Given the description of an element on the screen output the (x, y) to click on. 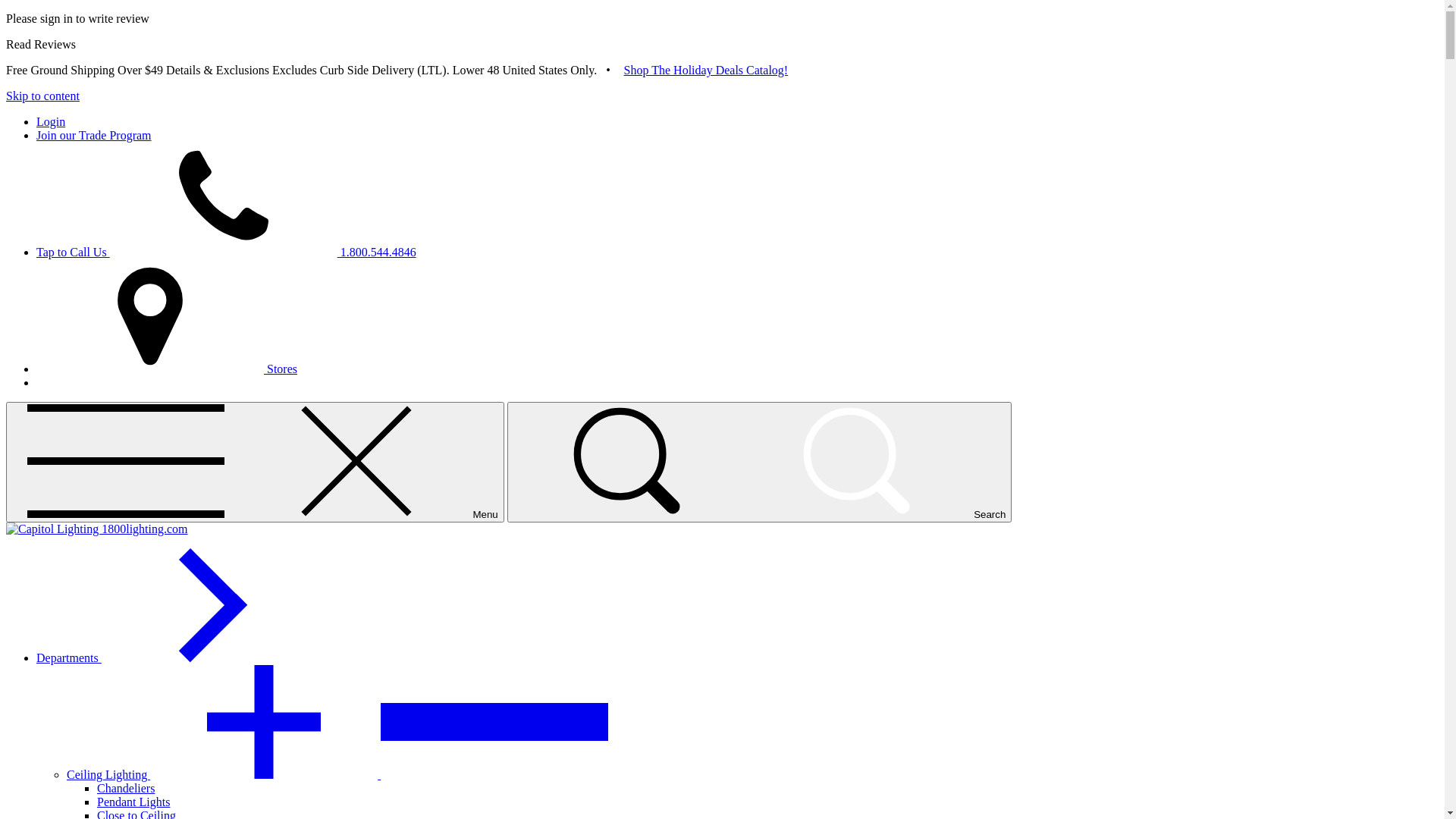
Skip to content Element type: text (42, 95)
Search Element type: text (759, 461)
Go to Our Store Element type: hover (97, 528)
Stores Element type: text (166, 368)
Pendant Lights Element type: text (133, 801)
Login Element type: text (50, 121)
Tap to Call Us 1.800.544.4846 Element type: text (226, 251)
Menu Element type: text (255, 461)
Ceiling Lighting Element type: text (337, 774)
Shop The Holiday Deals Catalog! Element type: text (706, 69)
Join our Trade Program Element type: text (93, 134)
Chandeliers Element type: text (125, 787)
Departments Element type: text (182, 657)
